Given the description of an element on the screen output the (x, y) to click on. 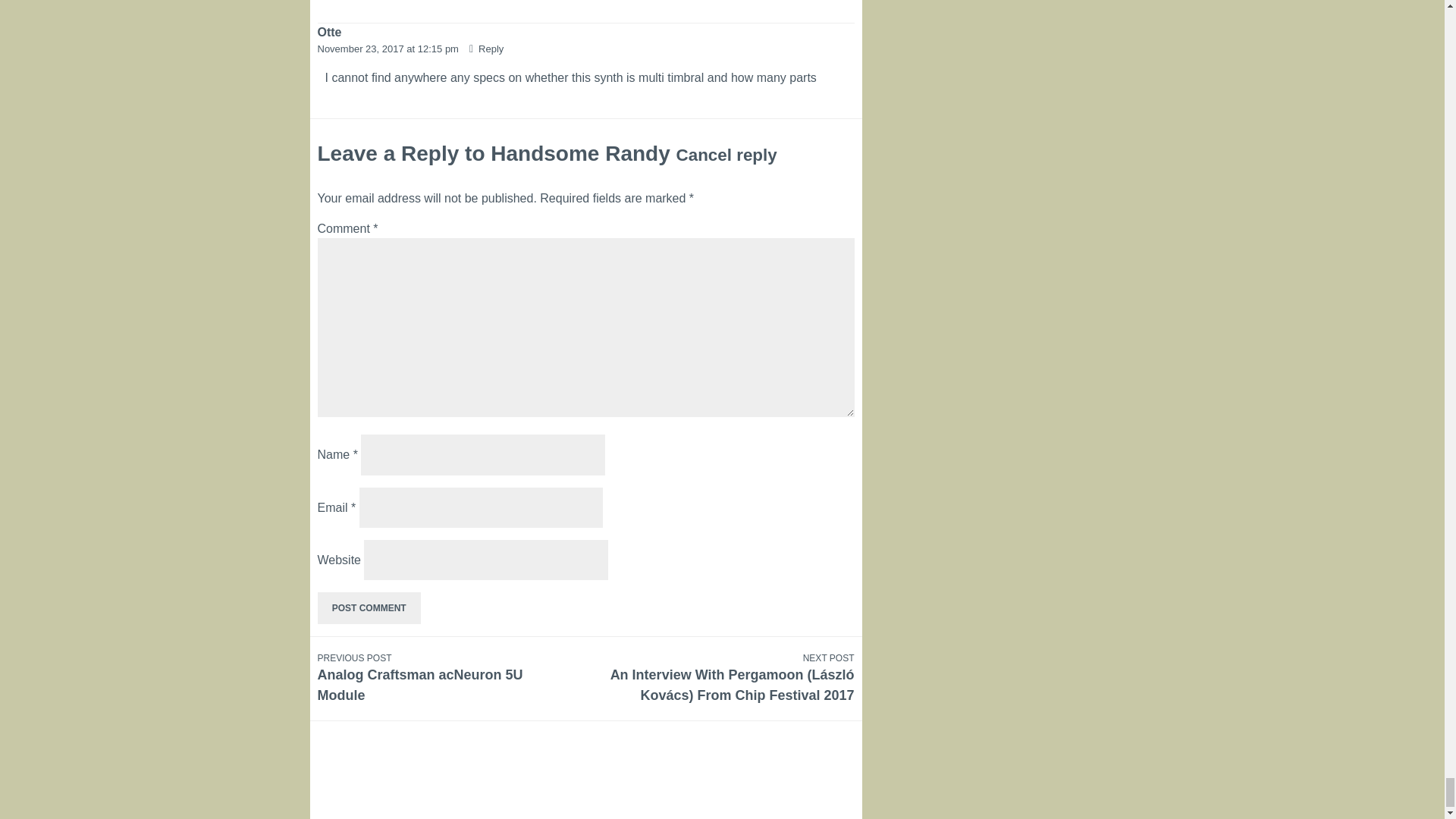
Post Comment (368, 608)
